Given the description of an element on the screen output the (x, y) to click on. 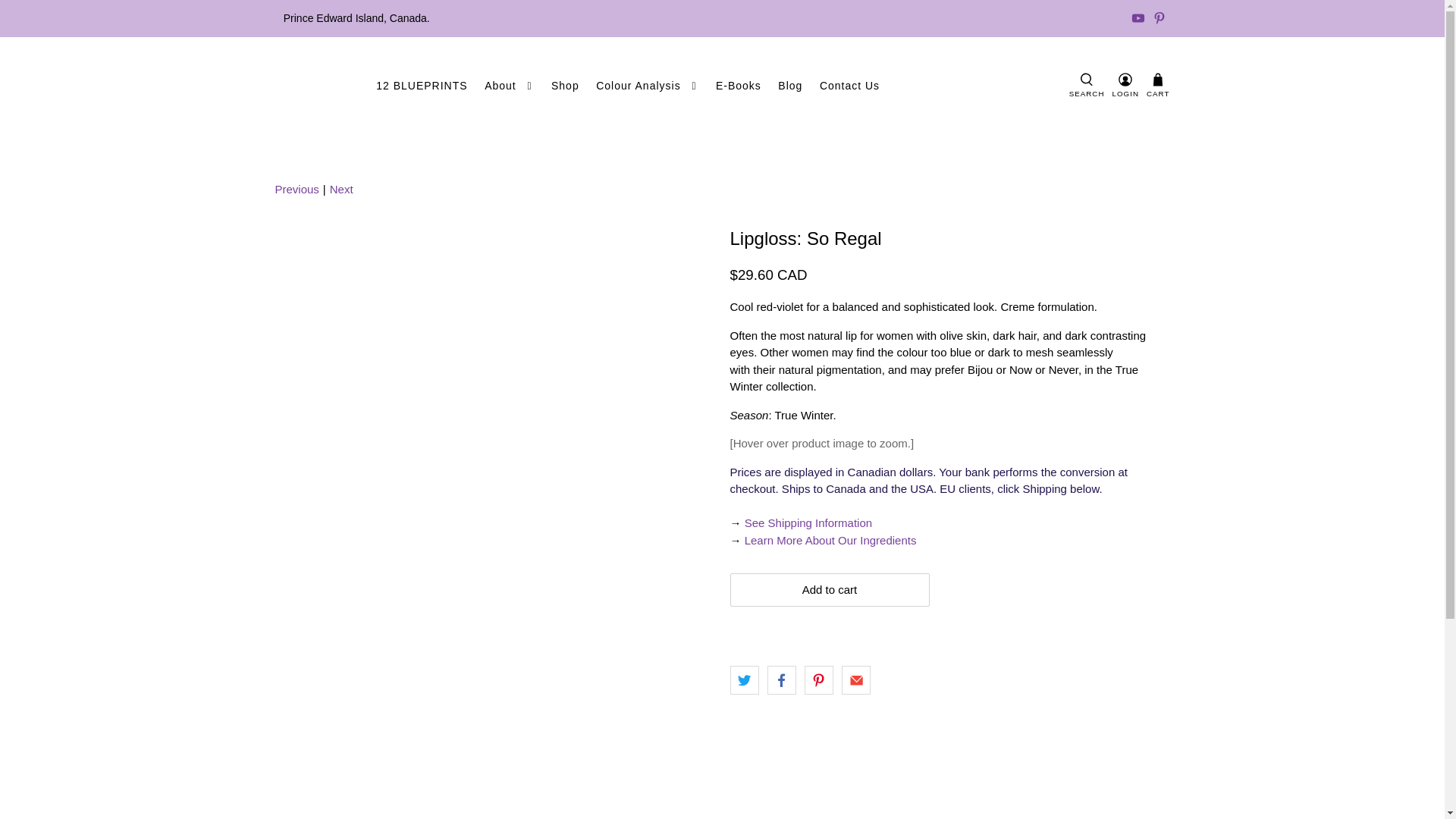
Next (341, 189)
Shop (565, 85)
12 BLUEPRINTS (422, 85)
About (509, 85)
Previous (296, 189)
Ingredients (830, 540)
E-Books (738, 85)
Share this on Facebook (781, 679)
12 Blueprints on YouTube (1137, 18)
Share this on Twitter (743, 679)
